Given the description of an element on the screen output the (x, y) to click on. 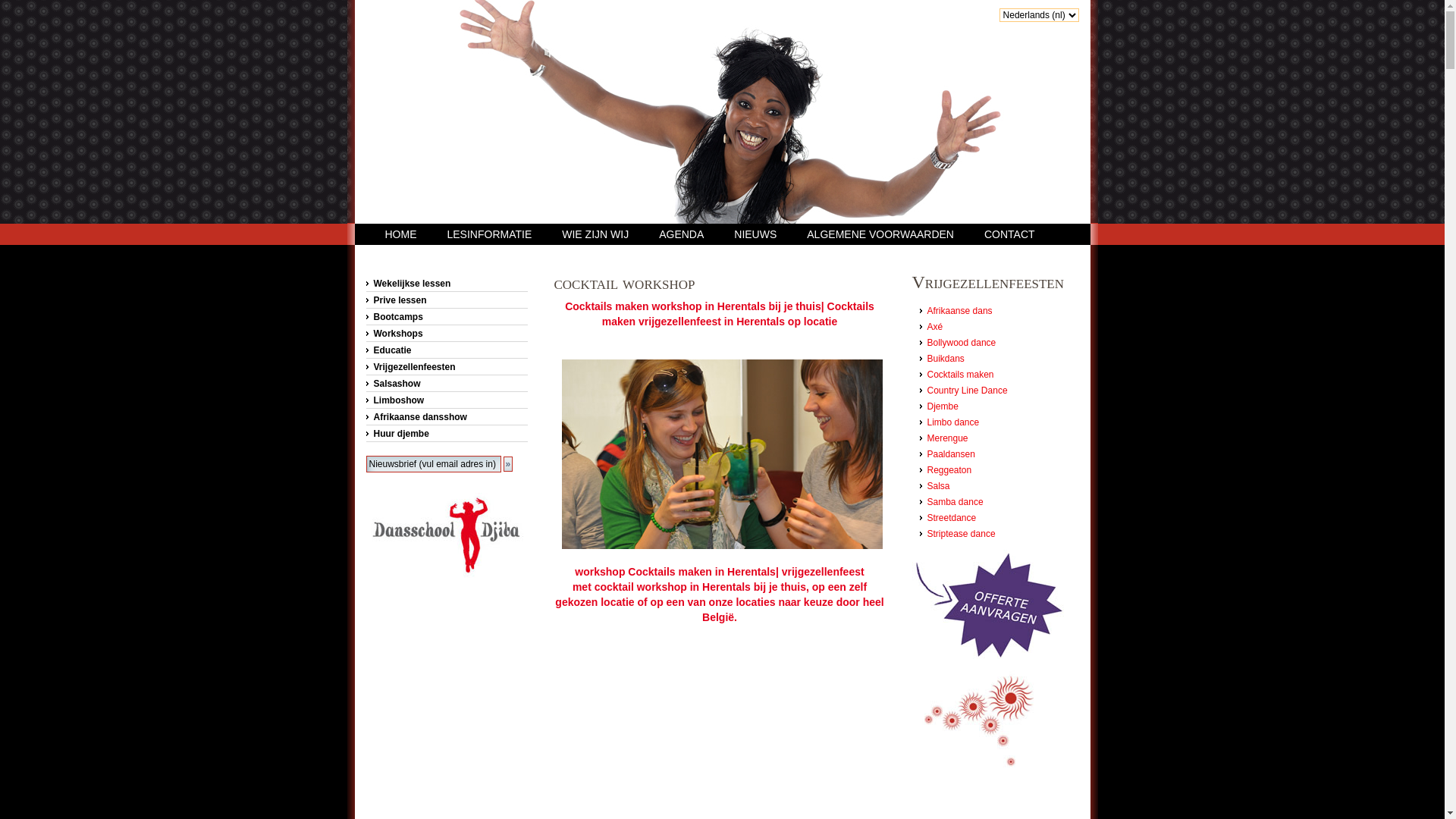
Vrijgezellenfeesten Element type: text (446, 366)
Wekelijkse lessen Element type: text (446, 283)
HOME Element type: text (401, 234)
  Element type: text (448, 56)
Afrikaanse dans Element type: text (958, 310)
Salsashow Element type: text (446, 383)
Merengue Element type: text (946, 438)
Afrikaanse dansshow Element type: text (446, 416)
NIEUWS Element type: text (755, 234)
WIE ZIJN WIJ Element type: text (594, 234)
Bollywood dance Element type: text (960, 342)
Salsa Element type: text (937, 485)
Samba dance Element type: text (954, 501)
Workshops Element type: text (446, 333)
Streetdance Element type: text (950, 517)
ALGEMENE VOORWAARDEN Element type: text (879, 234)
AGENDA Element type: text (680, 234)
Huur djembe Element type: text (446, 433)
Limboshow Element type: text (446, 400)
Prive lessen Element type: text (446, 299)
Bootcamps Element type: text (446, 316)
LESINFORMATIE Element type: text (489, 234)
Striptease dance Element type: text (960, 533)
Reggeaton Element type: text (948, 469)
CONTACT Element type: text (1009, 234)
Djembe Element type: text (941, 406)
Cocktails maken Element type: text (959, 374)
Educatie Element type: text (446, 350)
Buikdans Element type: text (944, 358)
Limbo dance Element type: text (952, 422)
Paaldansen Element type: text (950, 453)
Country Line Dance Element type: text (966, 390)
